Given the description of an element on the screen output the (x, y) to click on. 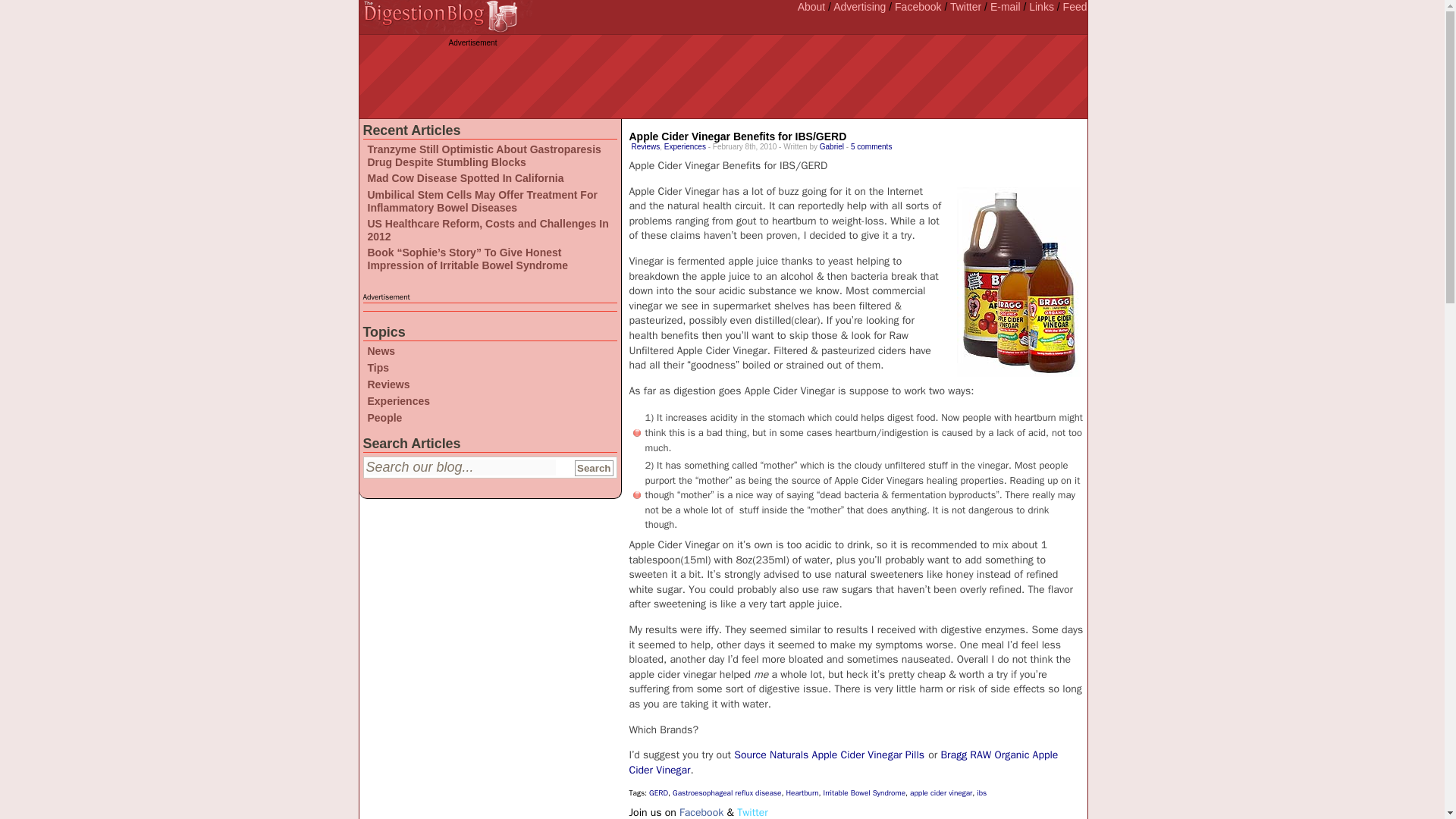
Facebook (701, 812)
Posts by Gabriel (831, 146)
Source Naturals Apple Cider Vinegar Pills (828, 754)
Irritable Bowel Syndrome (864, 792)
Twitter (965, 6)
Advertising (858, 6)
Heartburn (802, 792)
Gastroesophageal reflux disease (726, 792)
GERD (658, 792)
5 comments (870, 146)
